Given the description of an element on the screen output the (x, y) to click on. 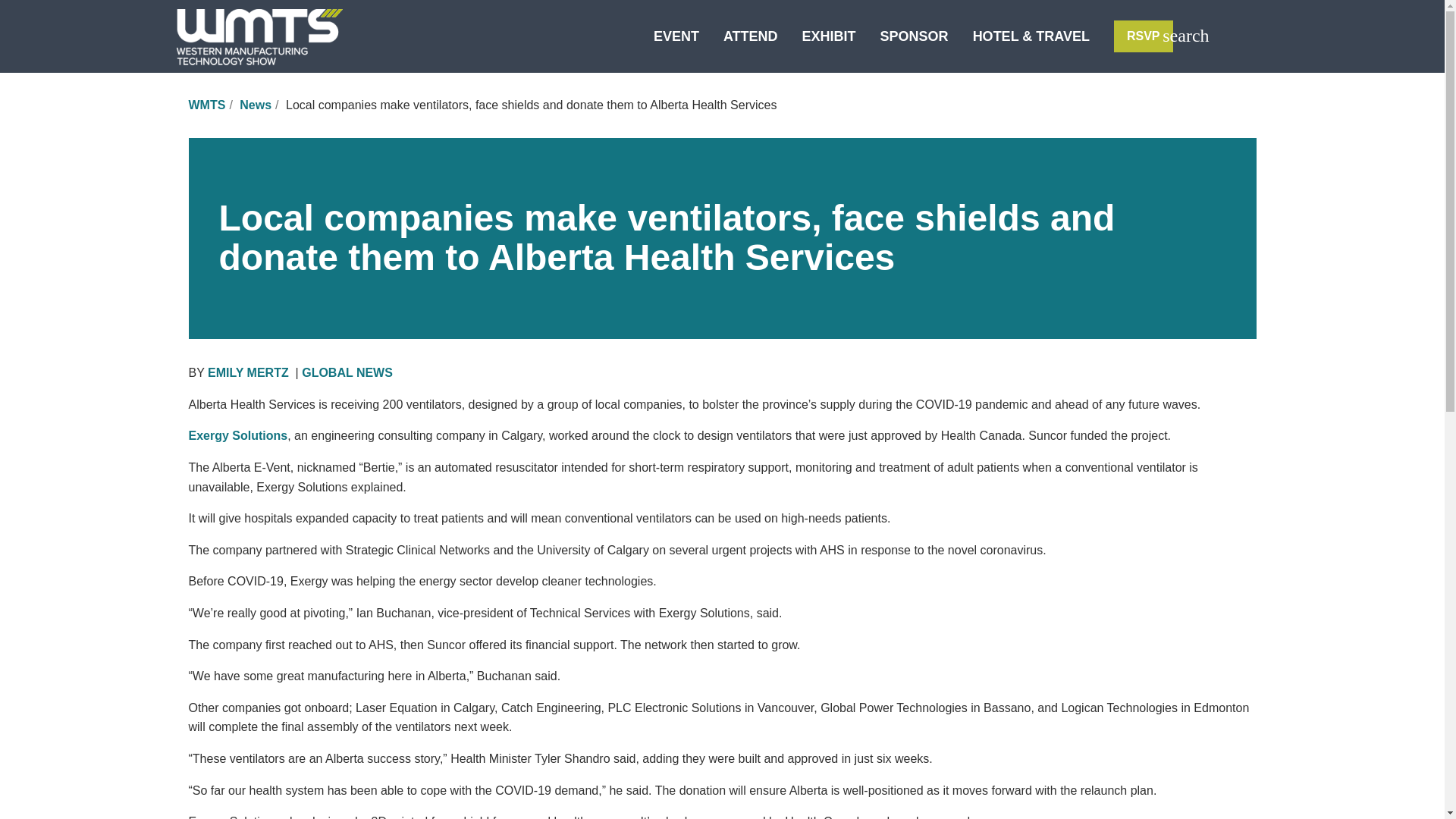
Exergy Solutions (236, 435)
Posts by Emily Mertz (248, 372)
News (255, 104)
WMTS (206, 104)
search (1184, 35)
GLOBAL NEWS (347, 372)
EMILY MERTZ (248, 372)
RSVP (1143, 36)
